Given the description of an element on the screen output the (x, y) to click on. 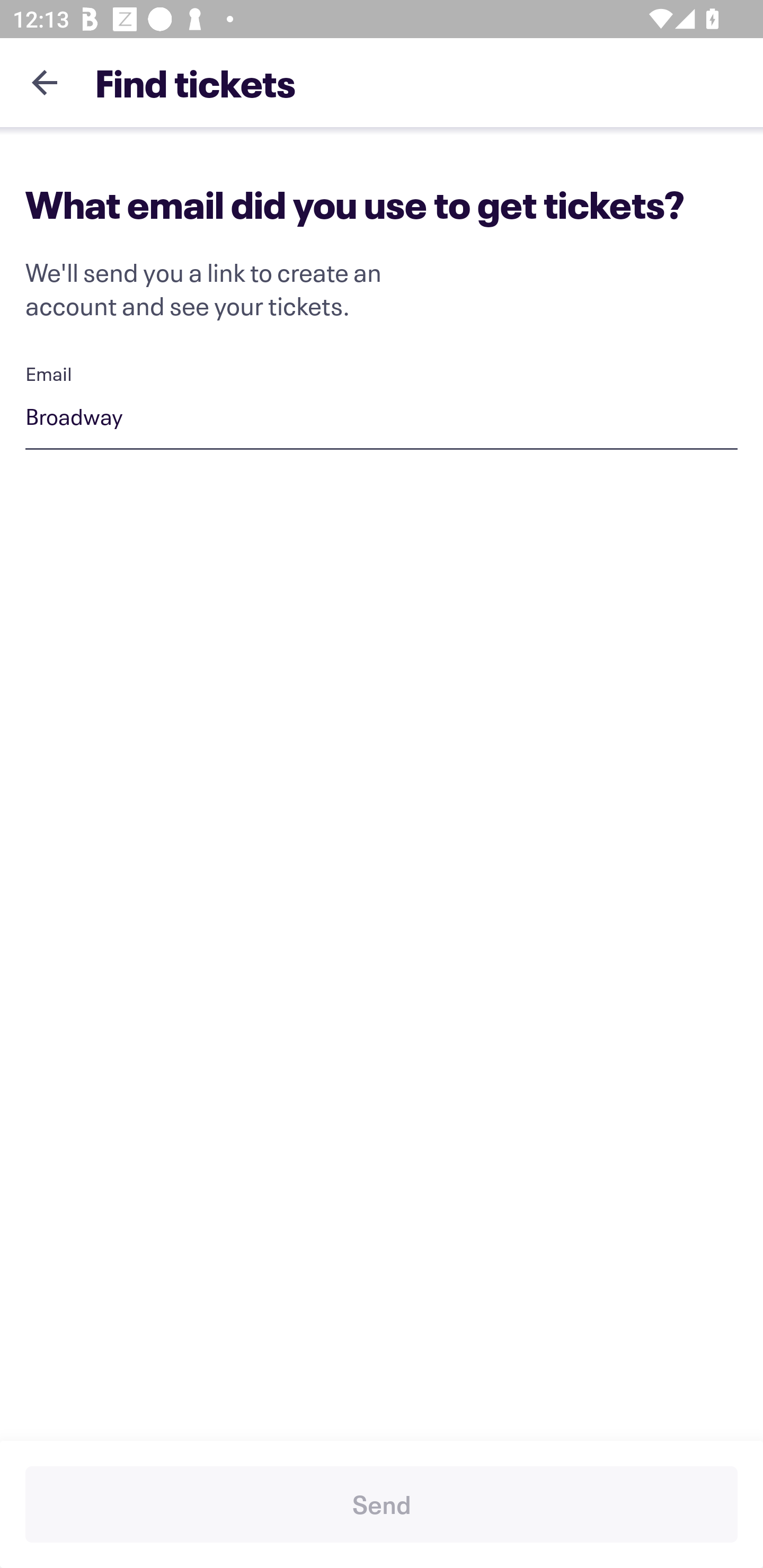
Navigate up (44, 82)
Broadway (381, 419)
Send (381, 1504)
